Given the description of an element on the screen output the (x, y) to click on. 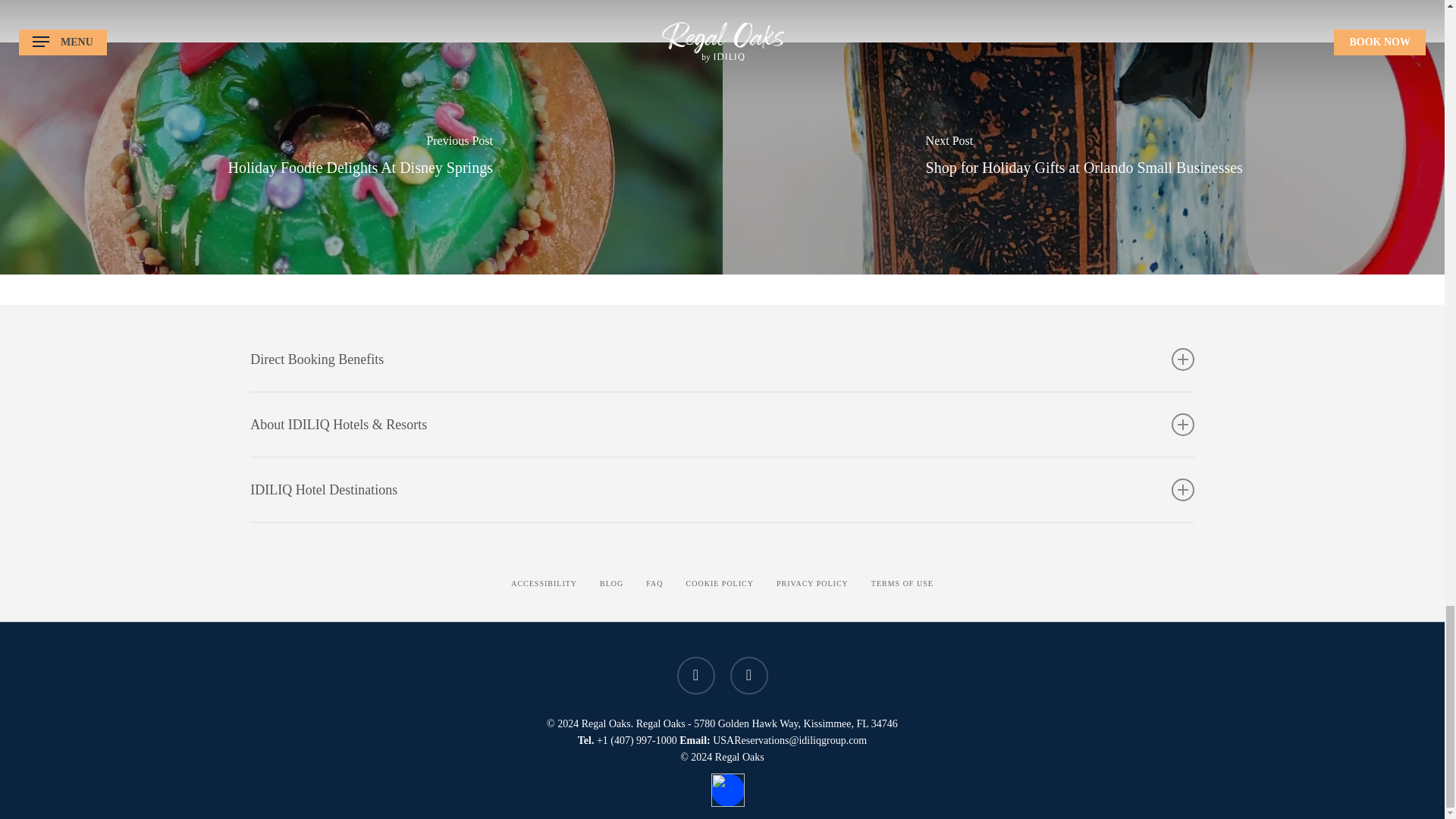
IDILIQ Hotel Destinations (721, 489)
COOKIE POLICY (719, 583)
instagram (748, 675)
BLOG (611, 583)
PRIVACY POLICY (812, 583)
ACCESSIBILITY (543, 583)
Direct Booking Benefits (721, 359)
FAQ (654, 583)
TERMS OF USE (901, 583)
facebook (695, 675)
